Given the description of an element on the screen output the (x, y) to click on. 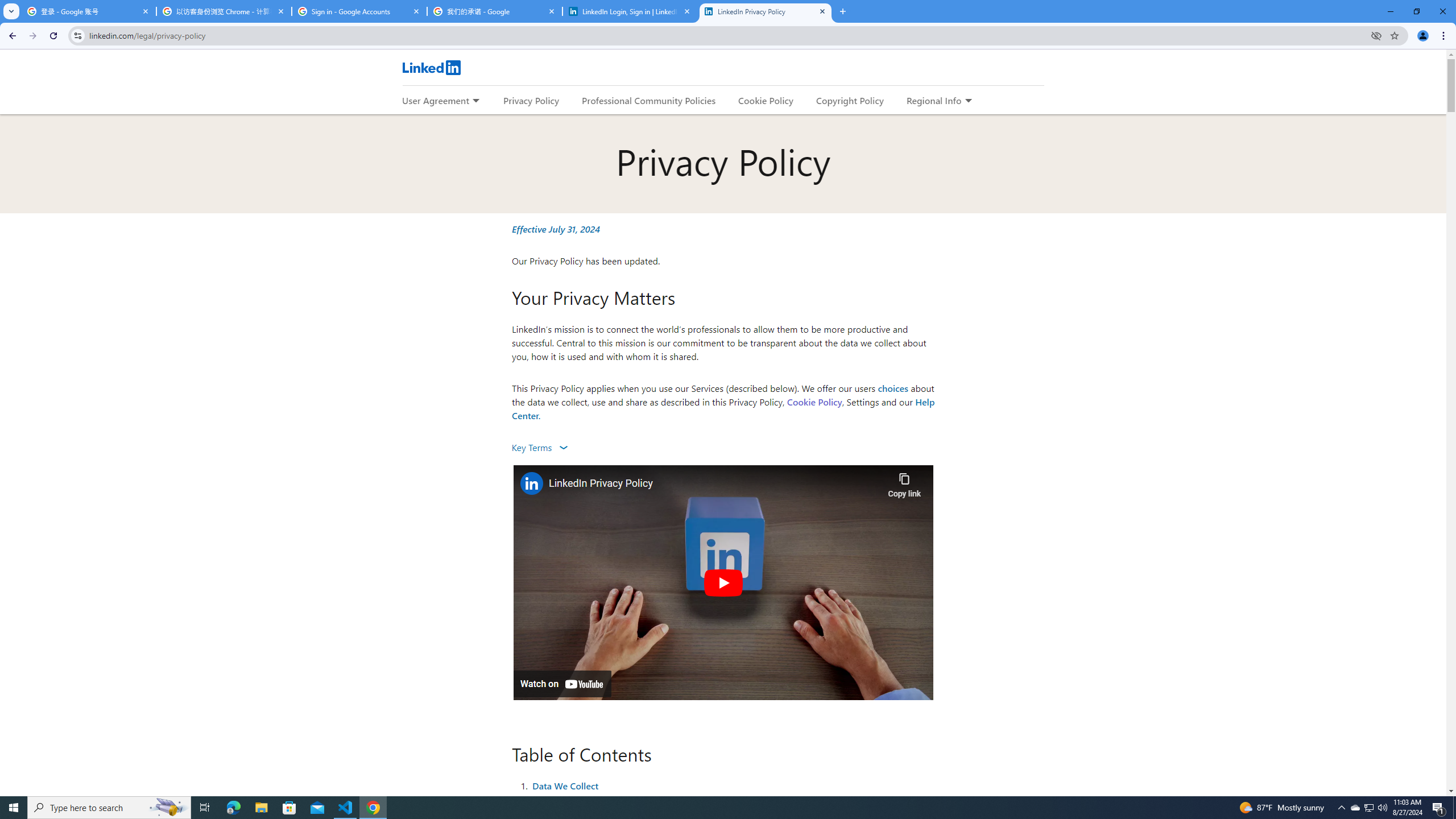
Sign in - Google Accounts (359, 11)
LinkedIn Privacy Policy (765, 11)
LinkedIn Login, Sign in | LinkedIn (630, 11)
Data We Collect (565, 784)
Professional Community Policies (649, 100)
Cookie Policy (814, 401)
Play (722, 582)
LinkedIn Privacy Policy (715, 483)
